Given the description of an element on the screen output the (x, y) to click on. 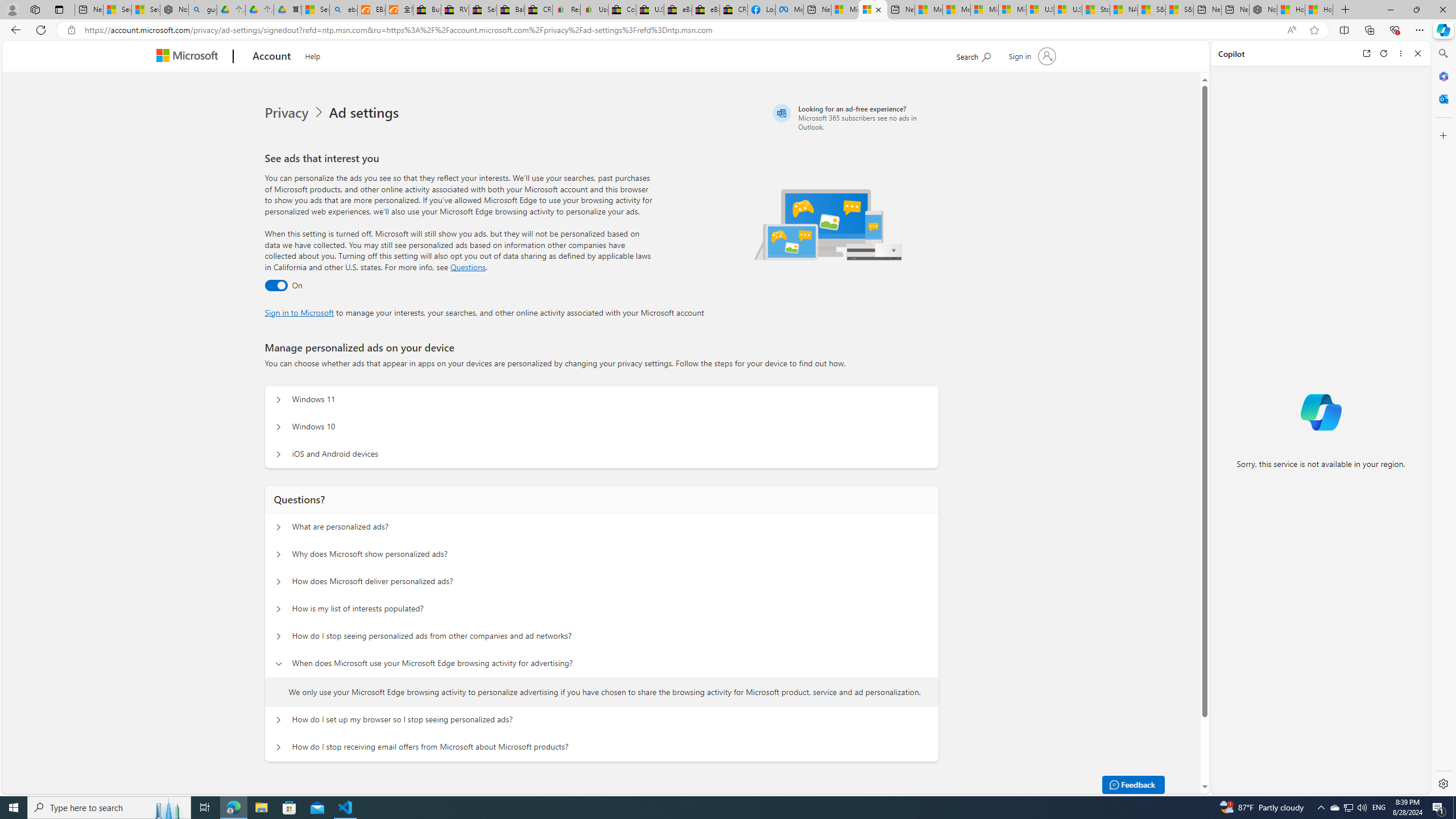
Microsoft (189, 56)
Side bar (1443, 418)
Customize (1442, 135)
Questions? What are personalized ads? (278, 526)
Sell worldwide with eBay (483, 9)
